Given the description of an element on the screen output the (x, y) to click on. 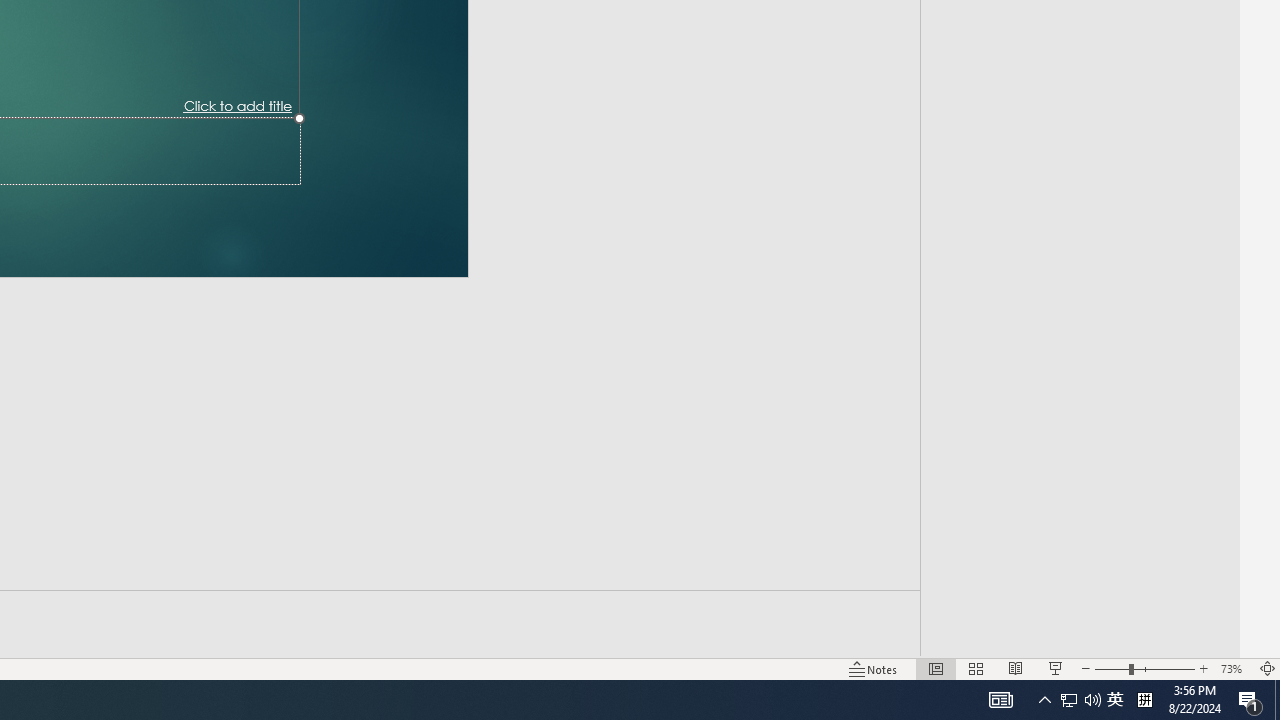
Zoom 73% (1234, 668)
